Given the description of an element on the screen output the (x, y) to click on. 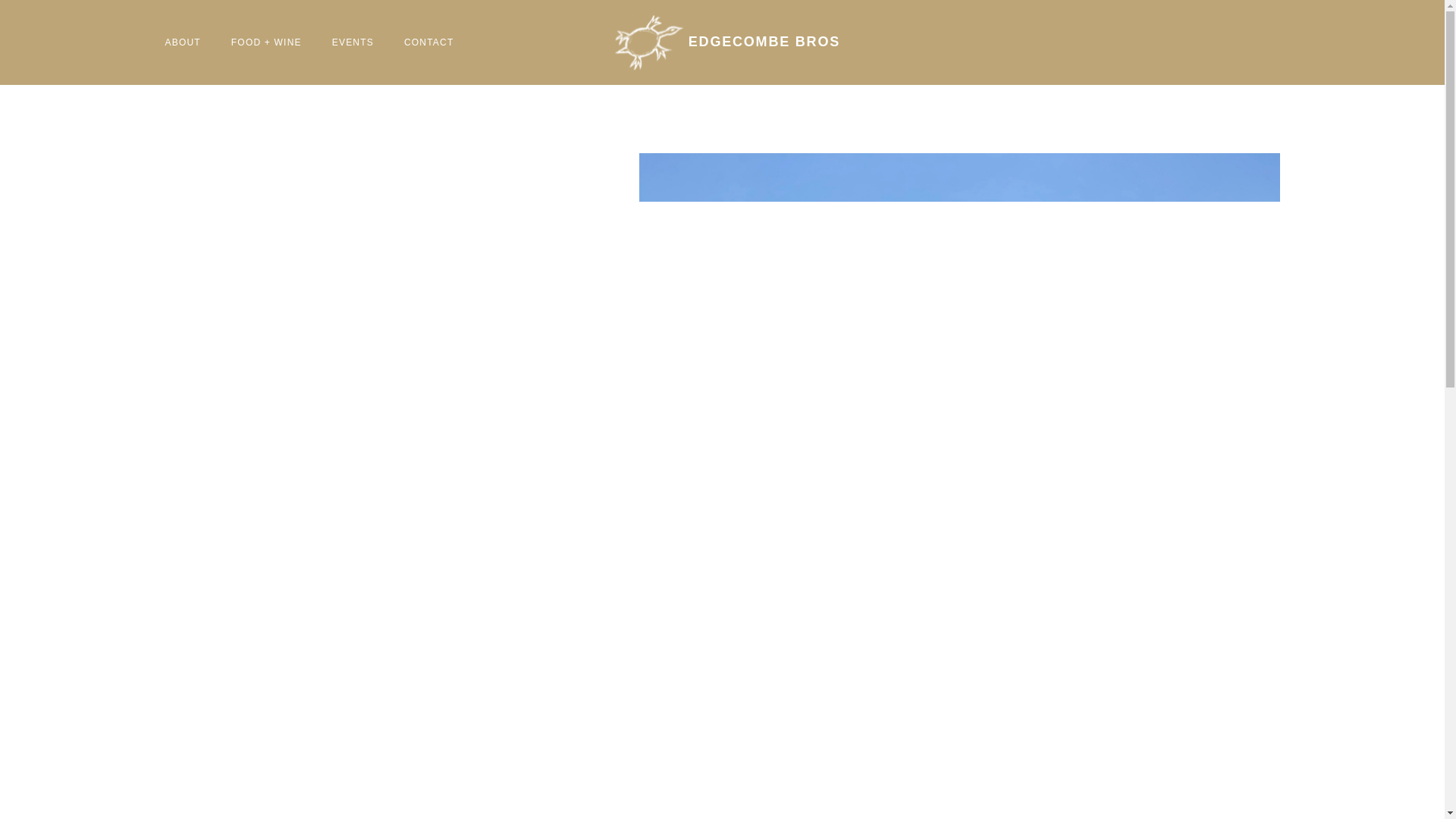
ABOUT Element type: text (182, 42)
CONTACT Element type: text (429, 42)
FOOD + WINE Element type: text (266, 42)
EVENTS Element type: text (352, 42)
EDGECOMBE BROS Element type: text (722, 42)
